Given the description of an element on the screen output the (x, y) to click on. 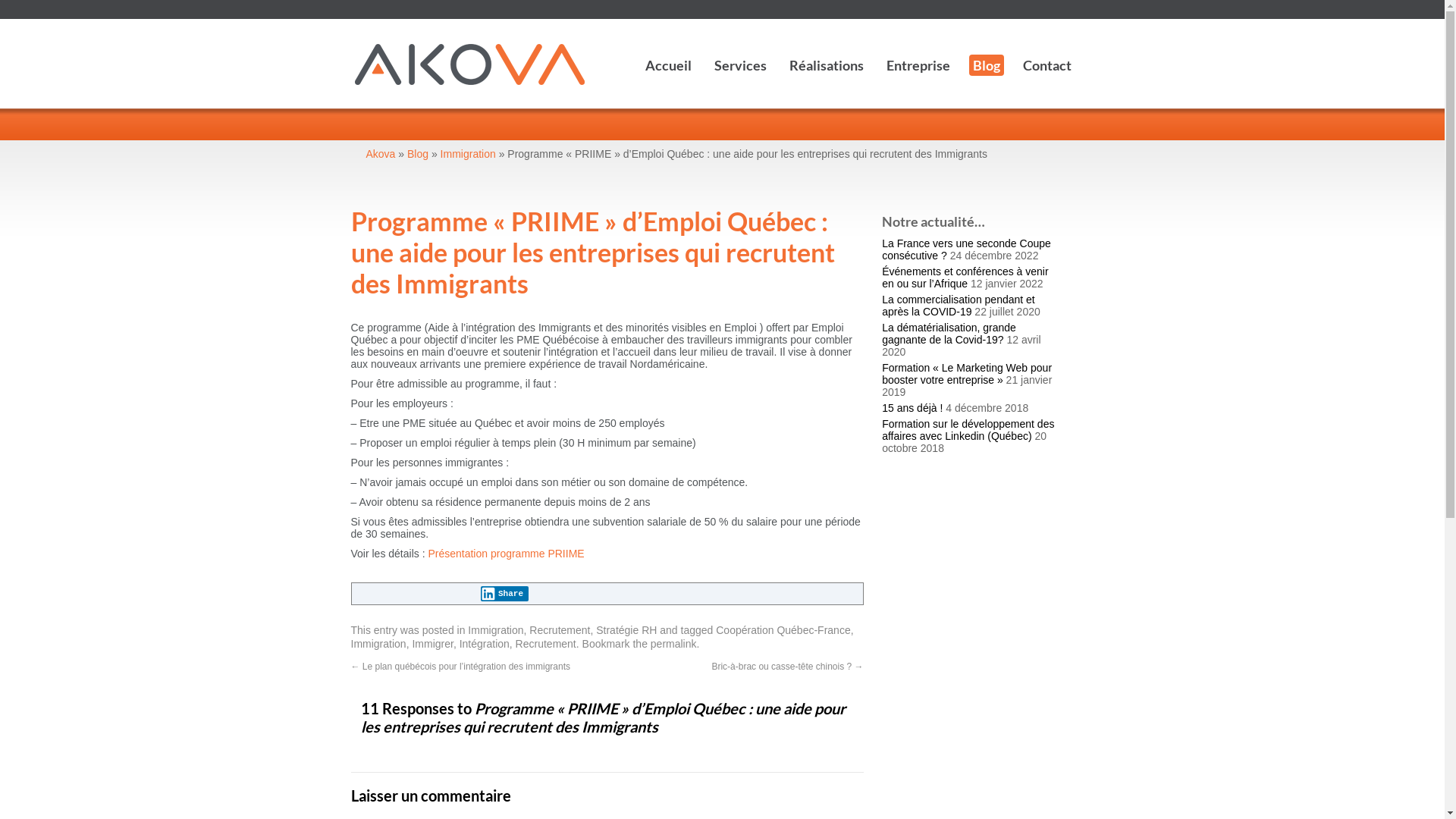
permalink Element type: text (673, 643)
Blog Element type: text (417, 153)
Immigration Element type: text (495, 630)
Akova Element type: text (380, 153)
Recrutement Element type: text (559, 630)
ressources humaines Element type: text (1003, 123)
Accueil Element type: text (668, 64)
Recrutement Element type: text (545, 643)
Immigration Element type: text (377, 643)
Entreprise Element type: text (917, 64)
Services Element type: text (739, 64)
Share Element type: text (504, 593)
formations Element type: text (1048, 123)
Contact Element type: text (1047, 64)
Blog Element type: text (986, 64)
Immigration Element type: text (467, 153)
Immigrer Element type: text (431, 643)
